Given the description of an element on the screen output the (x, y) to click on. 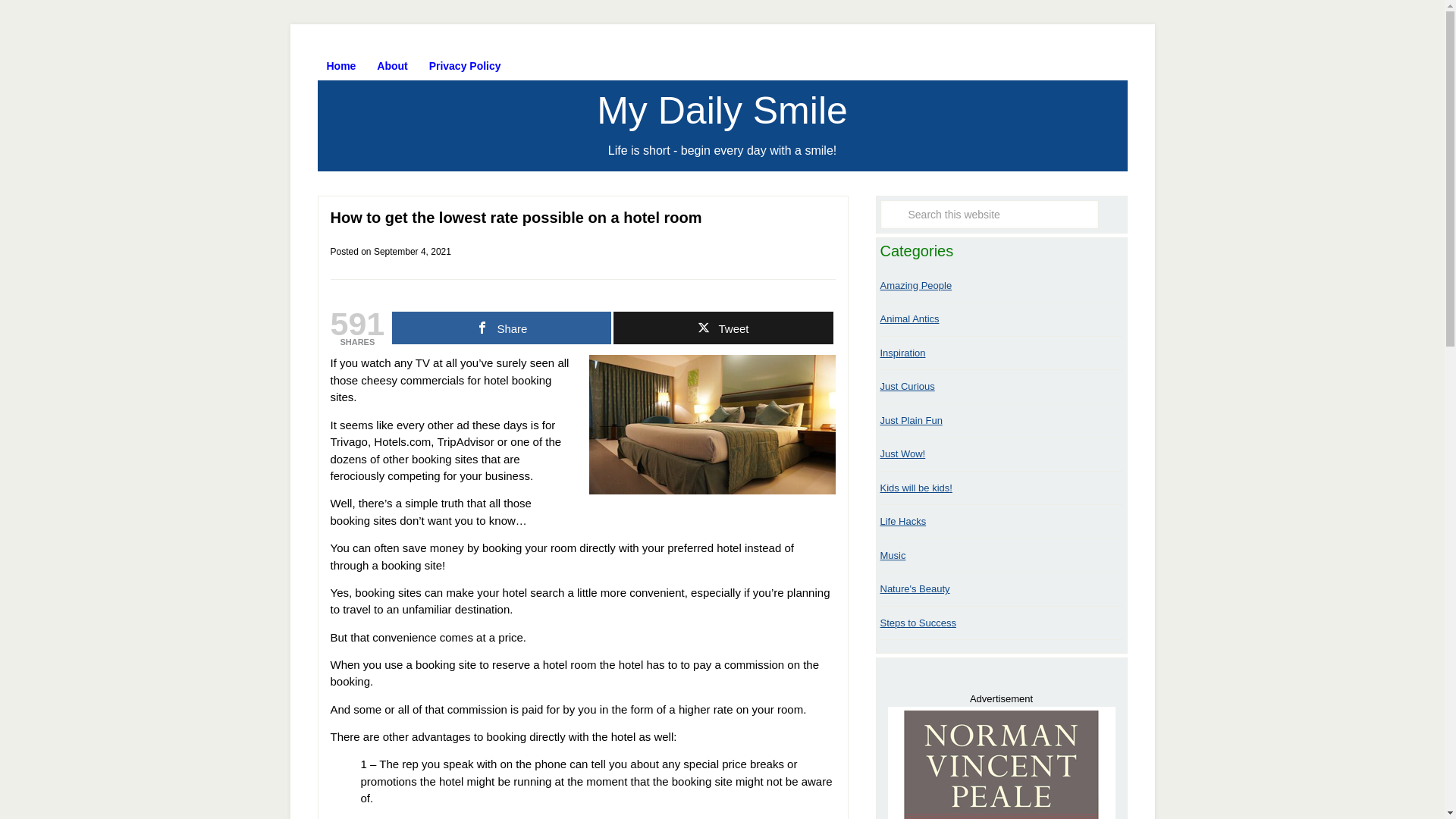
Just Plain Fun (910, 419)
Nature's Beauty (914, 588)
Kids will be kids! (915, 487)
Home (341, 65)
Tweet (722, 327)
Steps to Success (917, 622)
Just Curious (906, 386)
Share (501, 327)
Animal Antics (909, 318)
Privacy Policy (465, 65)
Life Hacks (902, 521)
Just Wow! (901, 453)
Inspiration (901, 352)
